Given the description of an element on the screen output the (x, y) to click on. 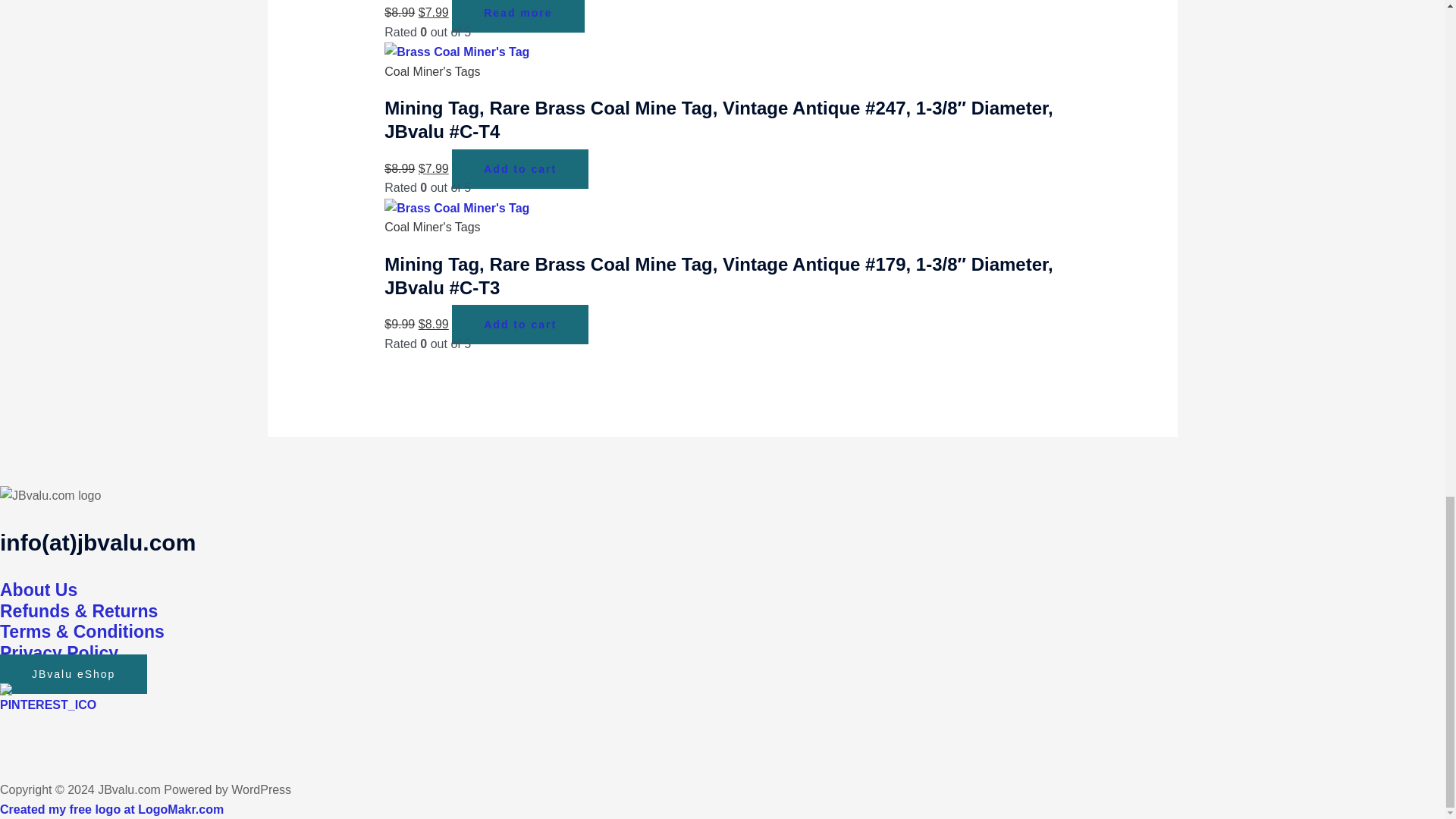
Read more (517, 16)
About Us (38, 589)
Add to cart (519, 323)
Privacy Policy (58, 652)
Add to cart (519, 169)
JBvalu eShop (73, 673)
